Given the description of an element on the screen output the (x, y) to click on. 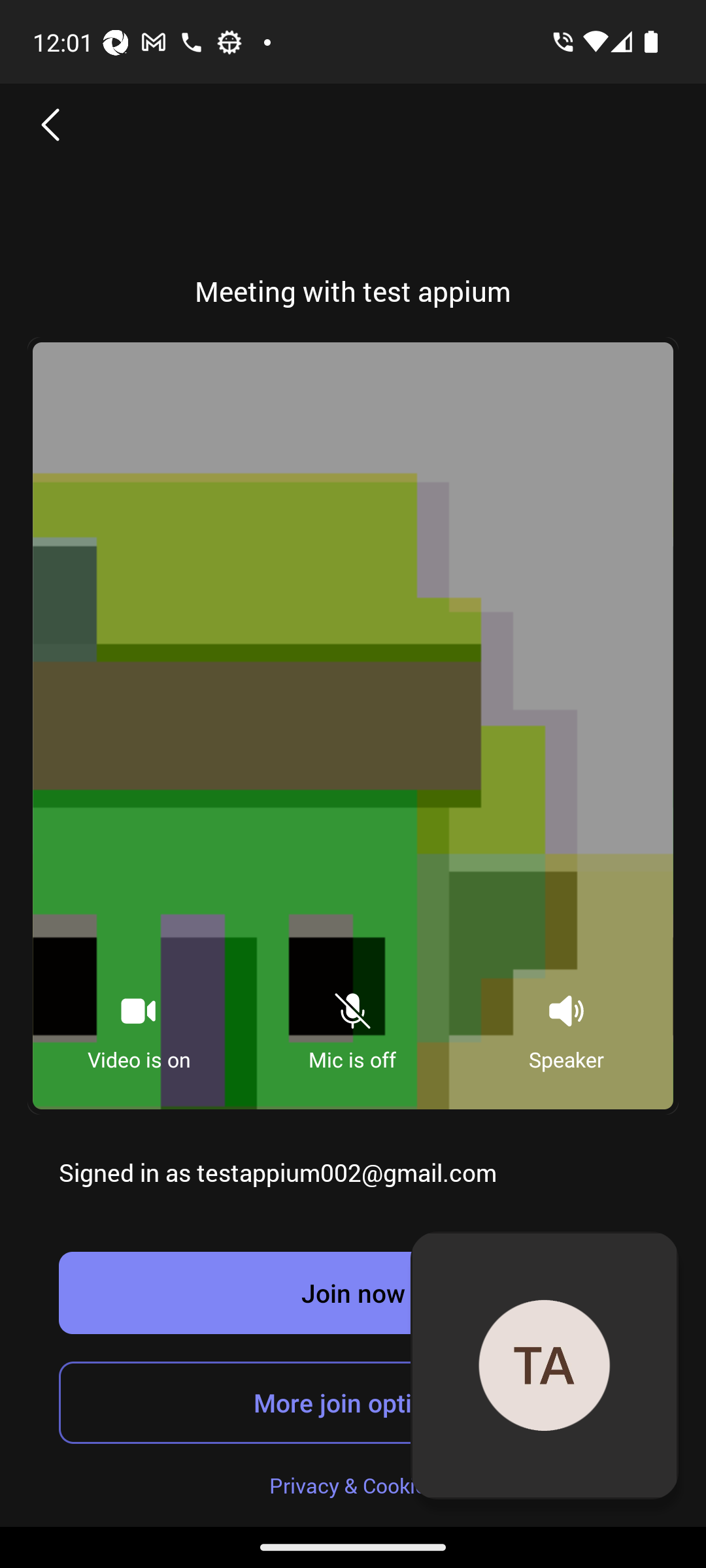
Back (51, 124)
Video is on (138, 1025)
Mic muted Mic is off (352, 1025)
Audio Speaker Audio Speaker (566, 1025)
